Given the description of an element on the screen output the (x, y) to click on. 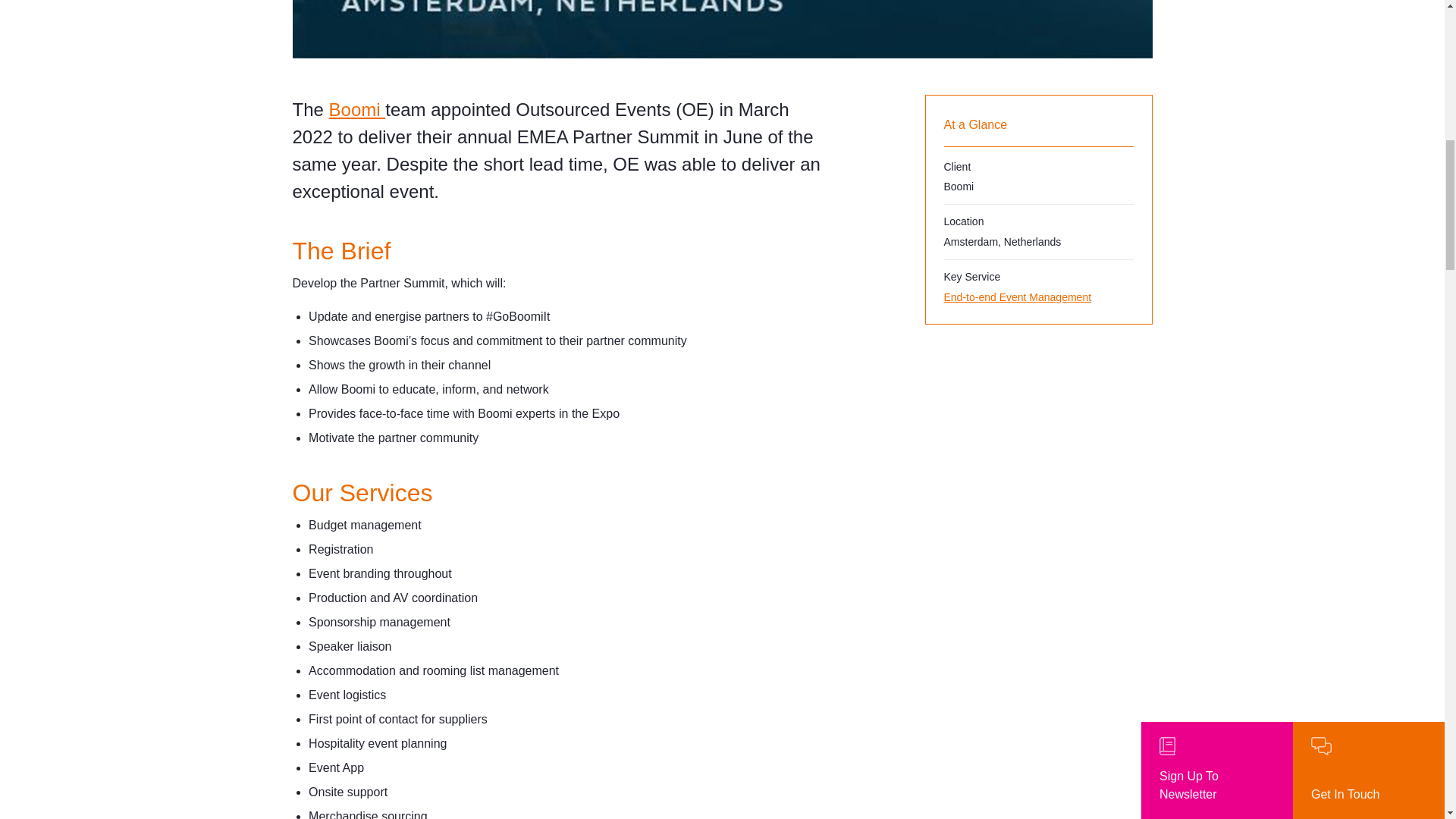
Boomi (357, 109)
End-to-end Event Management (1037, 297)
Boomi (357, 109)
